Given the description of an element on the screen output the (x, y) to click on. 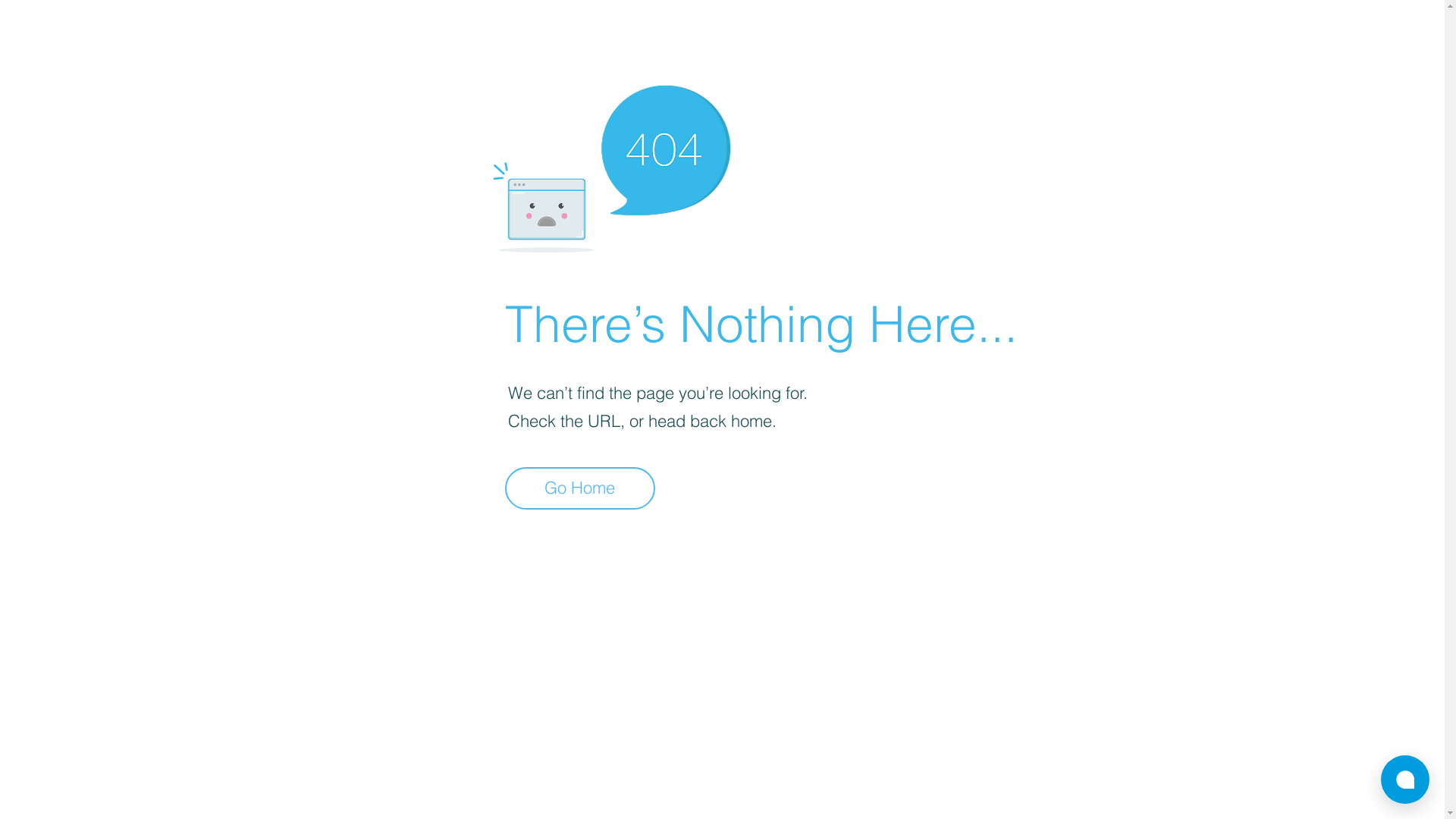
Open chat window Element type: hover (1404, 779)
Go Home Element type: text (580, 488)
404-icon_2.png Element type: hover (610, 164)
